Given the description of an element on the screen output the (x, y) to click on. 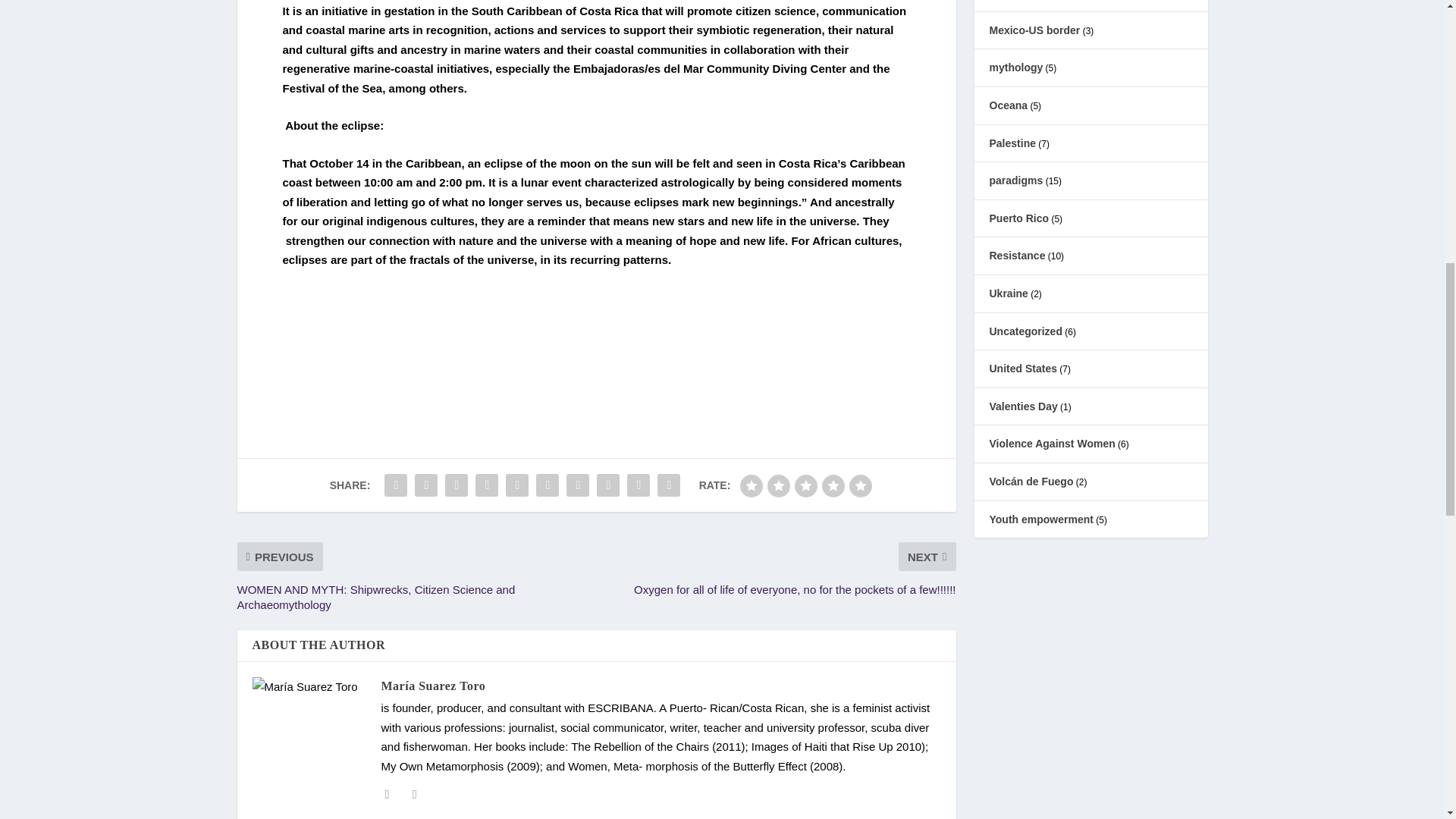
bad (750, 486)
poor (778, 486)
